Given the description of an element on the screen output the (x, y) to click on. 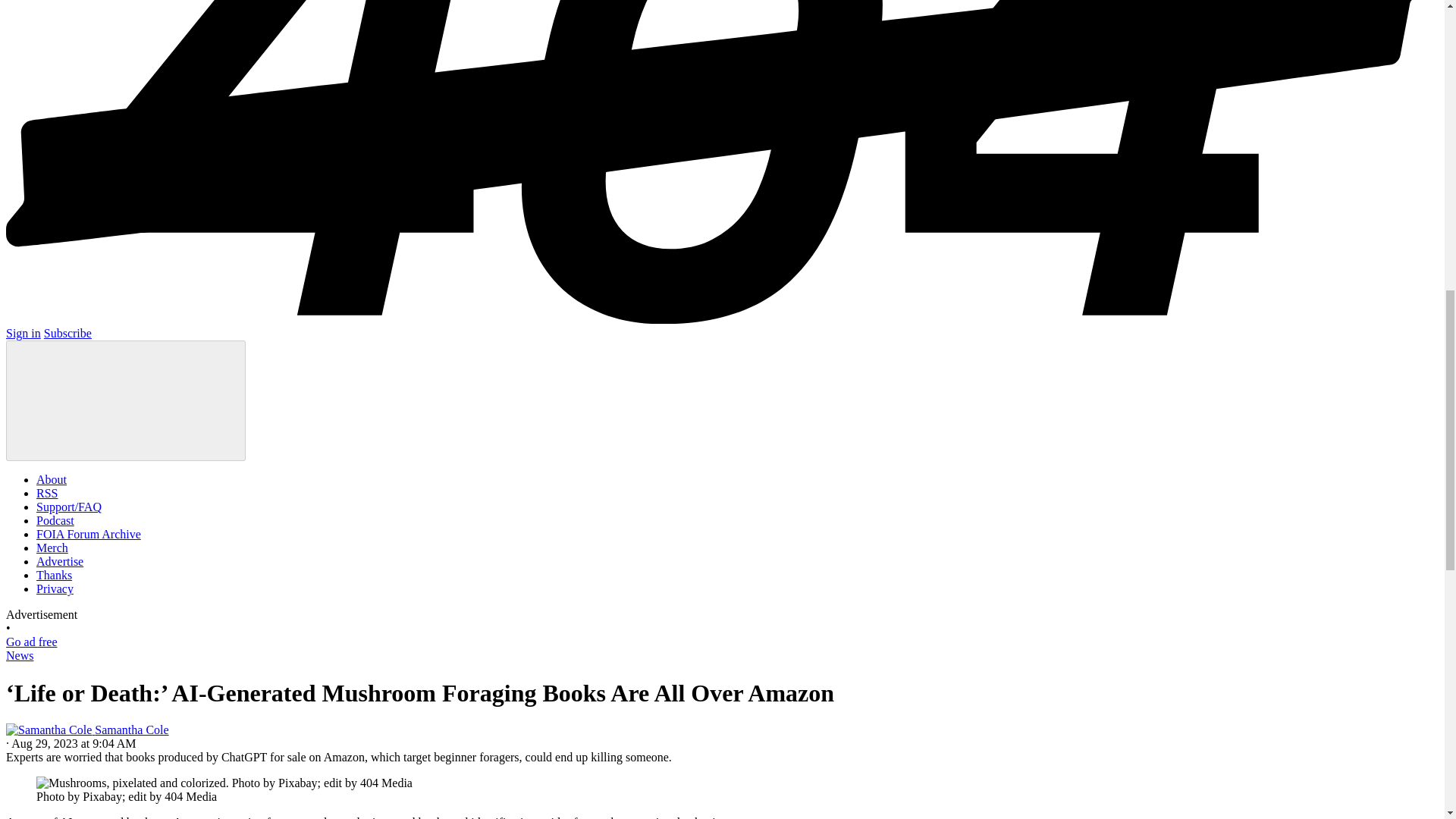
Subscribe (67, 332)
Menu (125, 400)
Go ad free (31, 641)
News (19, 655)
Samantha Cole (86, 729)
Thanks (53, 574)
Sign in (22, 332)
News (19, 655)
Merch (52, 547)
FOIA Forum Archive (88, 533)
